Given the description of an element on the screen output the (x, y) to click on. 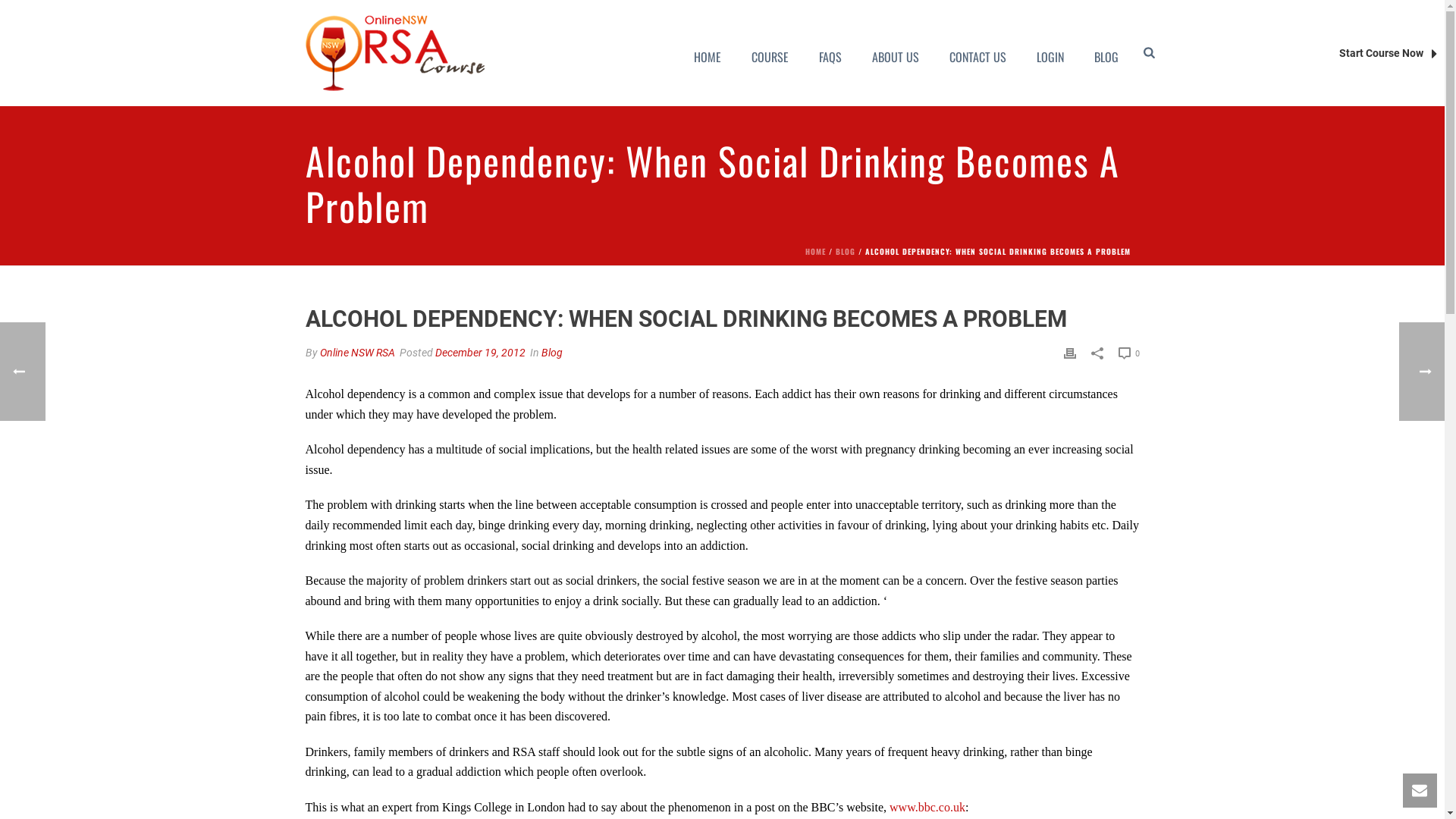
Blog Element type: text (551, 352)
0 Element type: text (1128, 353)
LOGIN Element type: text (1050, 53)
HOME Element type: text (815, 251)
Start Course Now Element type: text (1388, 53)
December 19, 2012 Element type: text (480, 352)
BLOG Element type: text (1106, 53)
Print Element type: hover (1069, 352)
Online NSW RSA Course Element type: hover (393, 53)
ABOUT US Element type: text (895, 53)
CONTACT US Element type: text (977, 53)
BLOG Element type: text (845, 251)
Online NSW RSA Element type: text (357, 352)
COURSE Element type: text (769, 53)
www.bbc.co.uk Element type: text (927, 806)
HOME Element type: text (707, 53)
FAQS Element type: text (829, 53)
